Given the description of an element on the screen output the (x, y) to click on. 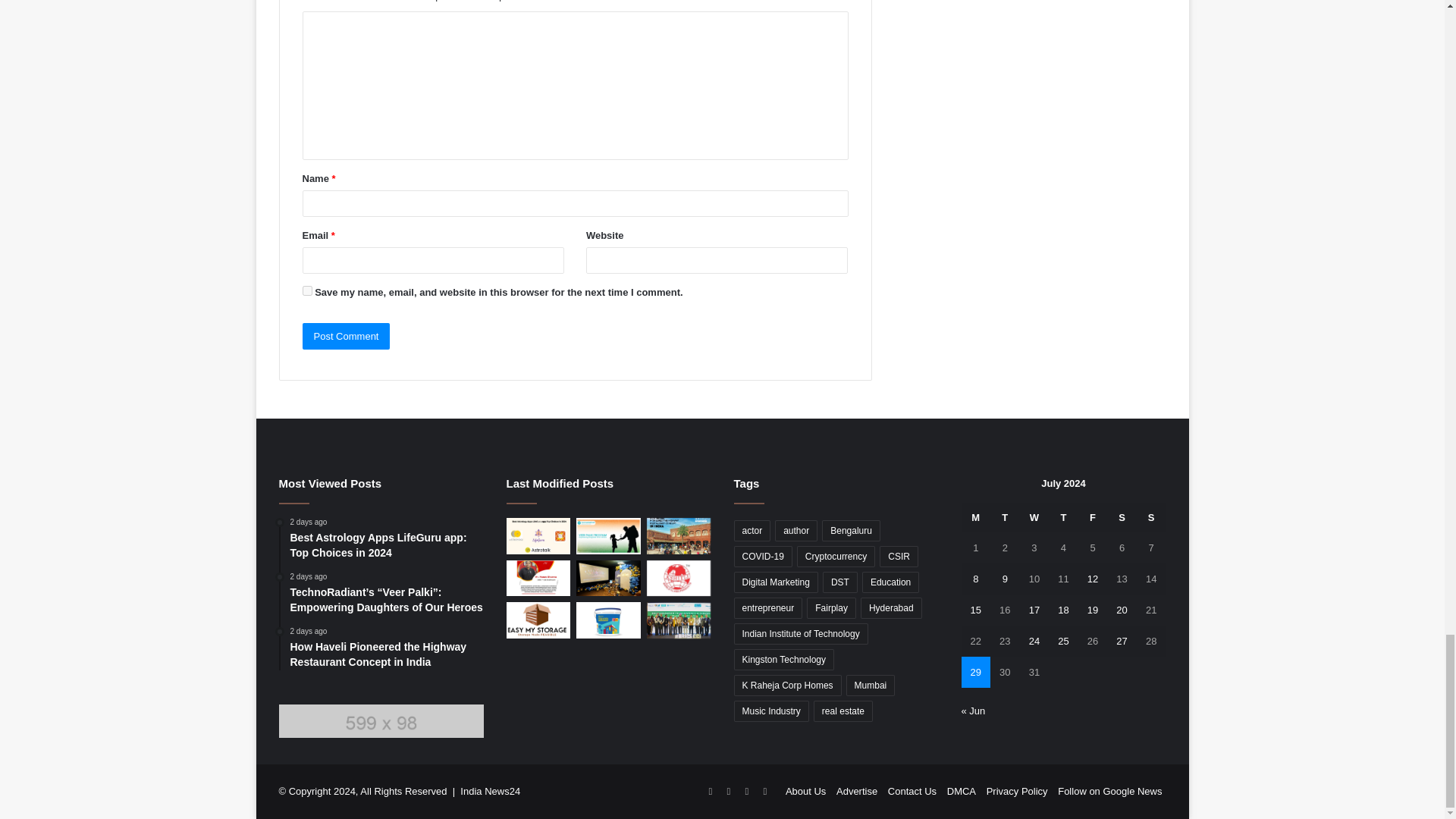
Post Comment (345, 335)
yes (306, 290)
